Given the description of an element on the screen output the (x, y) to click on. 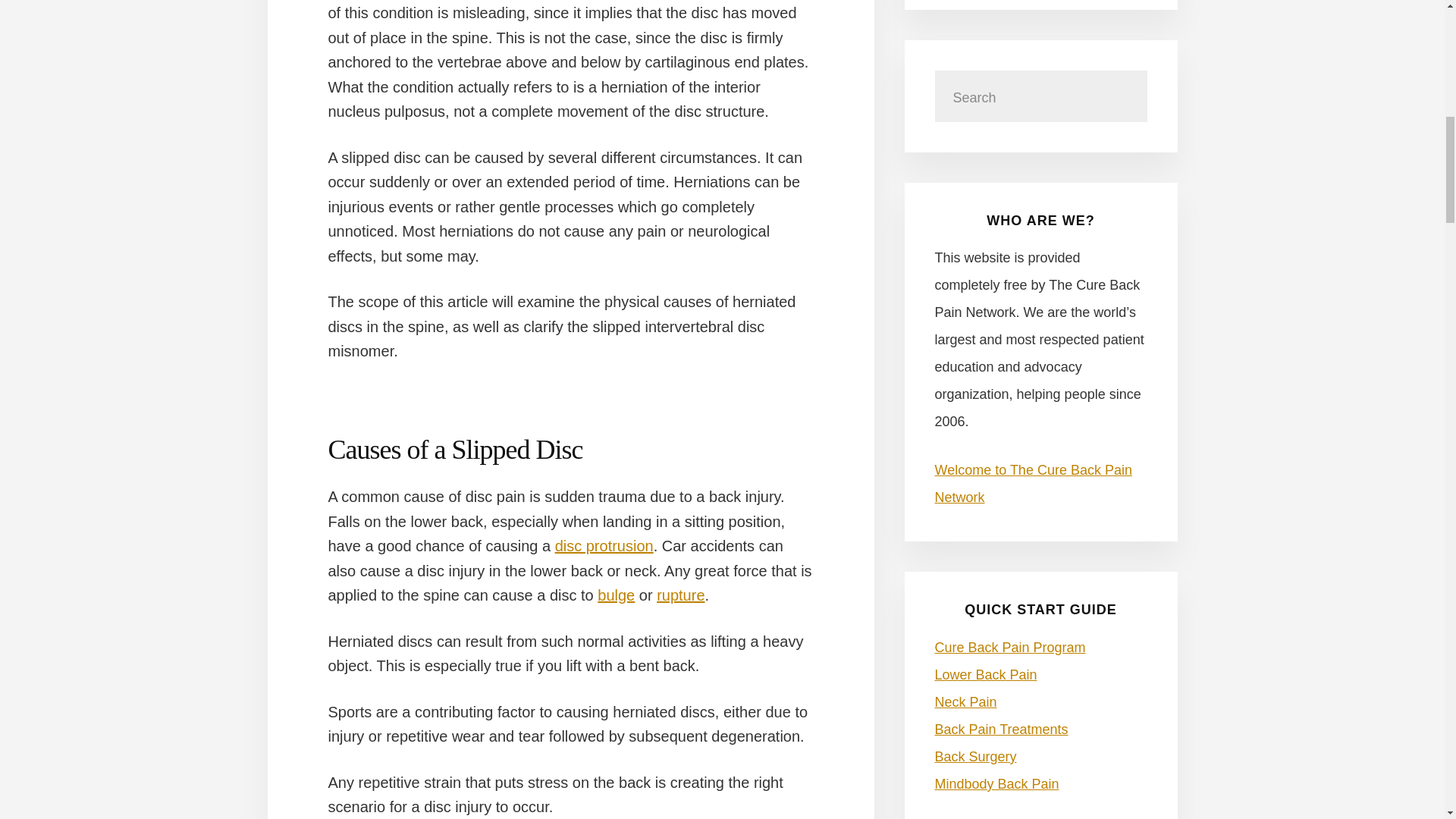
Neck Pain (964, 702)
Welcome to The Cure Back Pain Network (1032, 483)
Back Surgery (975, 756)
Mindbody Back Pain (996, 783)
disc protrusion (603, 545)
Lower Back Pain (985, 674)
bulge (615, 595)
rupture (680, 595)
Cure Back Pain Program (1009, 647)
Back Pain Treatments (1000, 729)
